Given the description of an element on the screen output the (x, y) to click on. 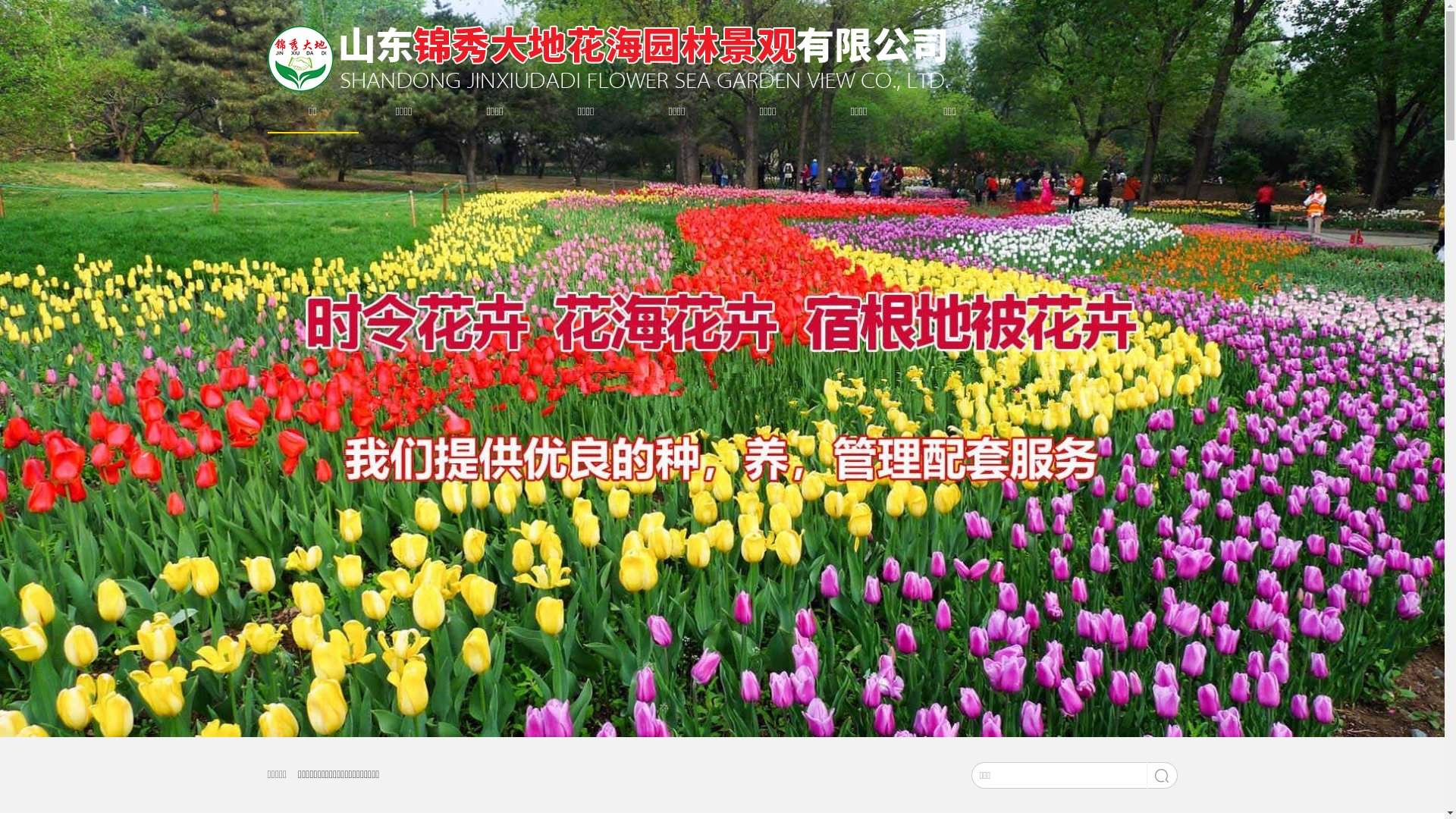
1 Element type: text (727, 708)
0 Element type: text (709, 708)
